Given the description of an element on the screen output the (x, y) to click on. 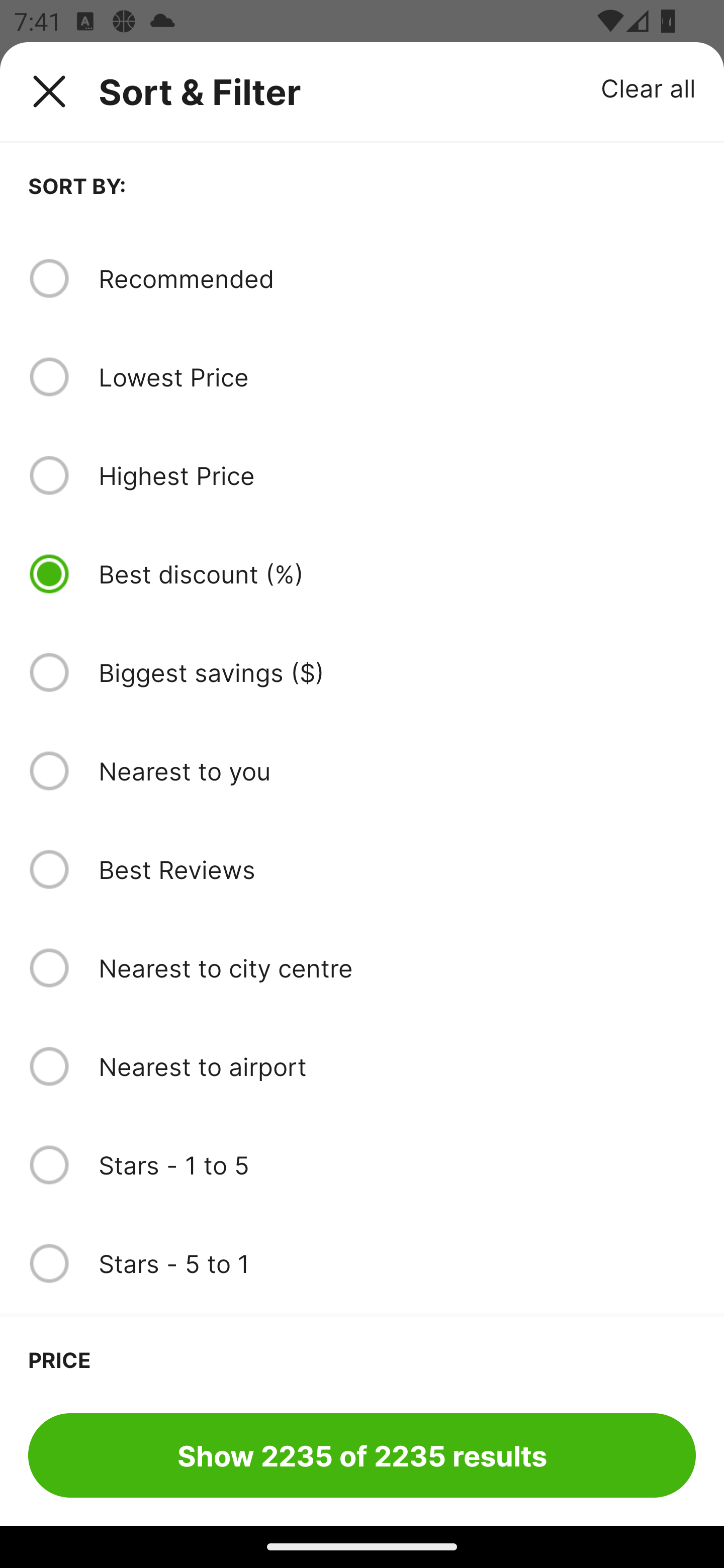
Clear all (648, 87)
Recommended  (396, 278)
Lowest Price (396, 377)
Highest Price (396, 474)
Best discount (%) (396, 573)
Biggest savings ($) (396, 672)
Nearest to you (396, 770)
Best Reviews (396, 869)
Nearest to city centre (396, 968)
Nearest to airport (396, 1065)
Stars - 1 to 5 (396, 1164)
Stars - 5 to 1 (396, 1263)
Show 2235 of 2235 results (361, 1454)
